Given the description of an element on the screen output the (x, y) to click on. 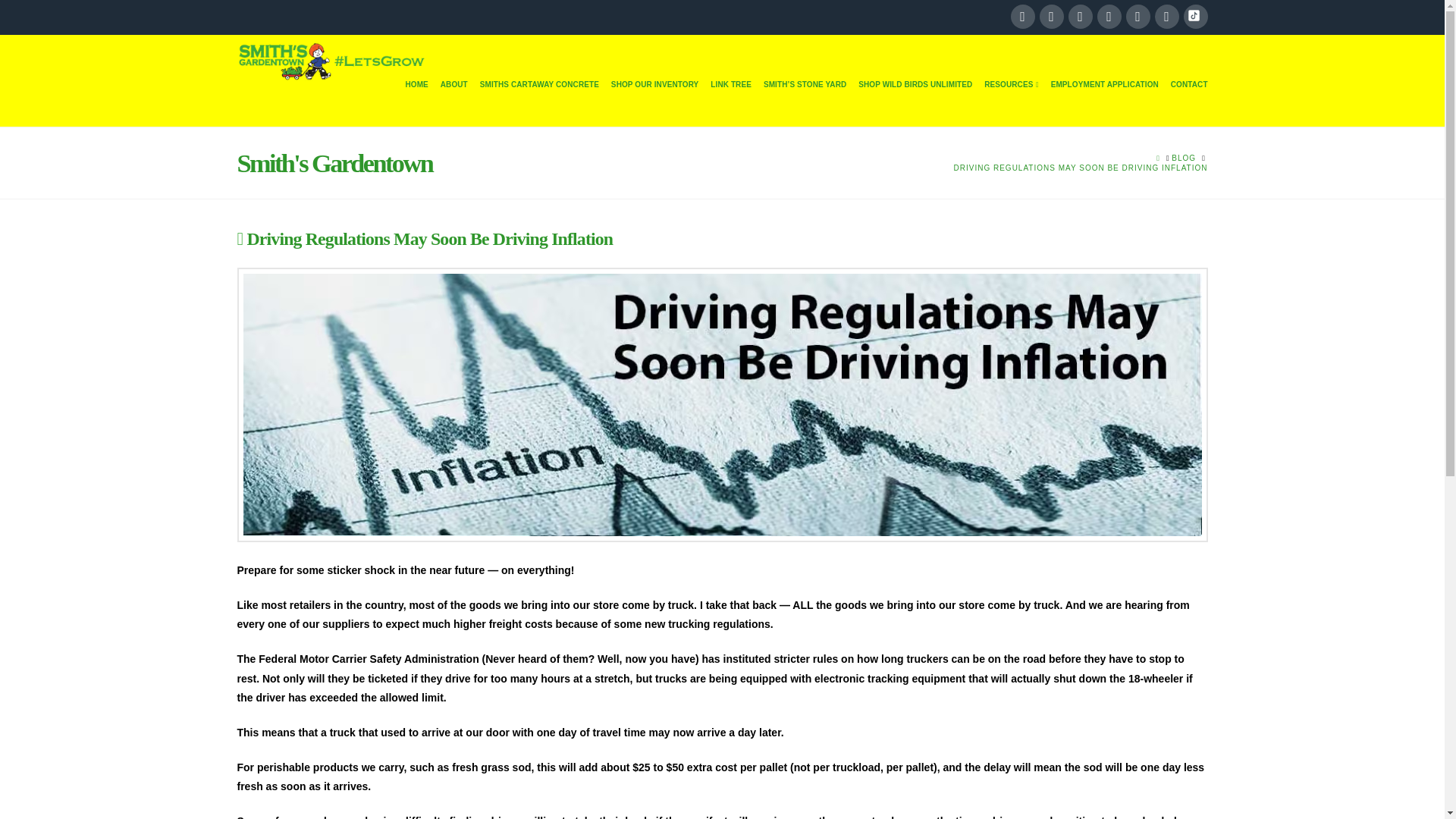
SHOP WILD BIRDS UNLIMITED (914, 103)
EMPLOYMENT APPLICATION (1104, 103)
Instagram (1137, 16)
HOME (415, 103)
Pinterest (1165, 16)
CONTACT (1186, 103)
LinkedIn (1079, 16)
ABOUT (453, 103)
LINK TREE (730, 103)
You Are Here (1080, 167)
Facebook (1021, 16)
SHOP OUR INVENTORY (654, 103)
RESOURCES (1010, 103)
RSS (1194, 16)
YouTube (1108, 16)
